Given the description of an element on the screen output the (x, y) to click on. 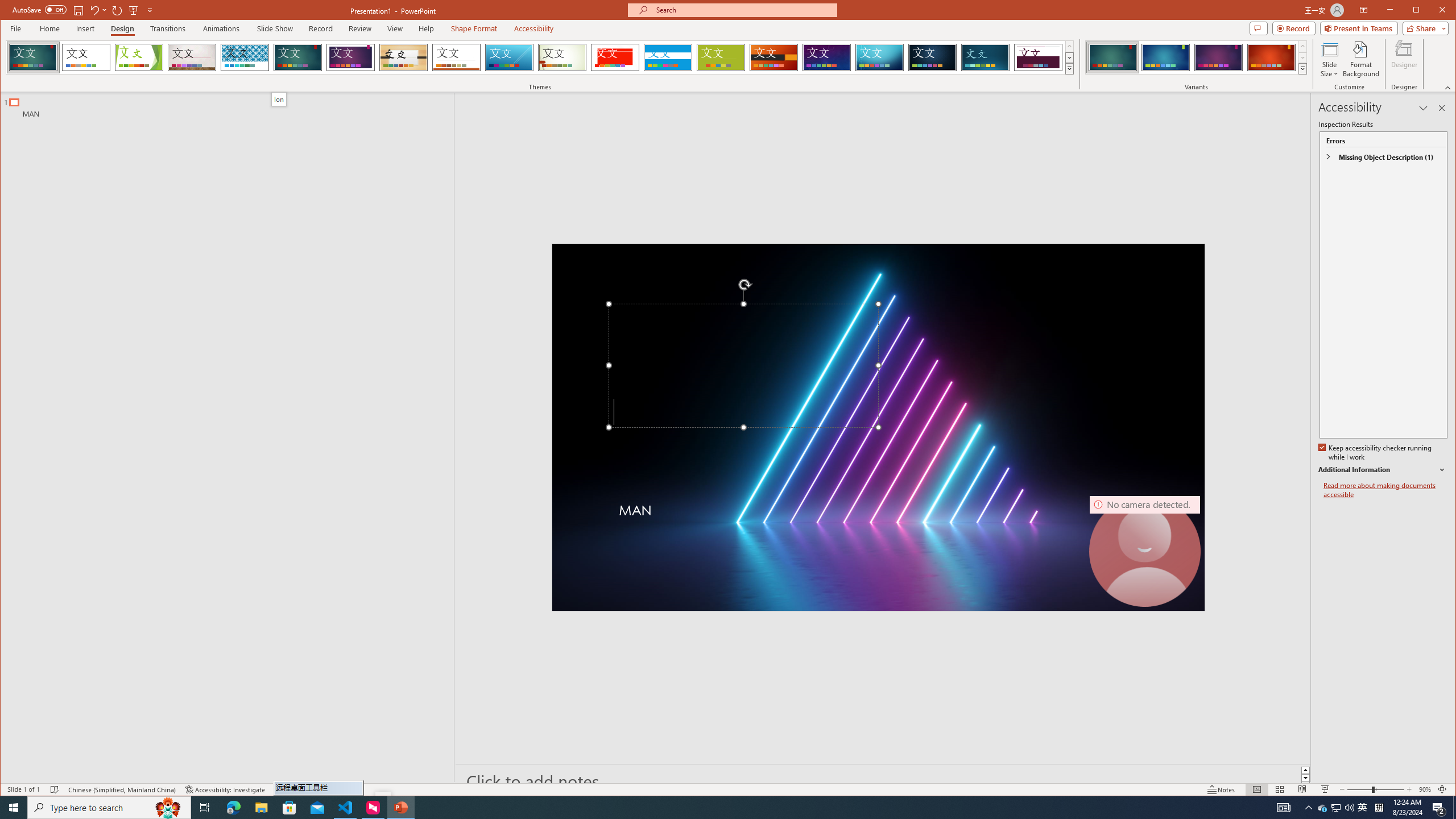
Format Background (1360, 59)
Camera 7, No camera detected. (1145, 550)
